Given the description of an element on the screen output the (x, y) to click on. 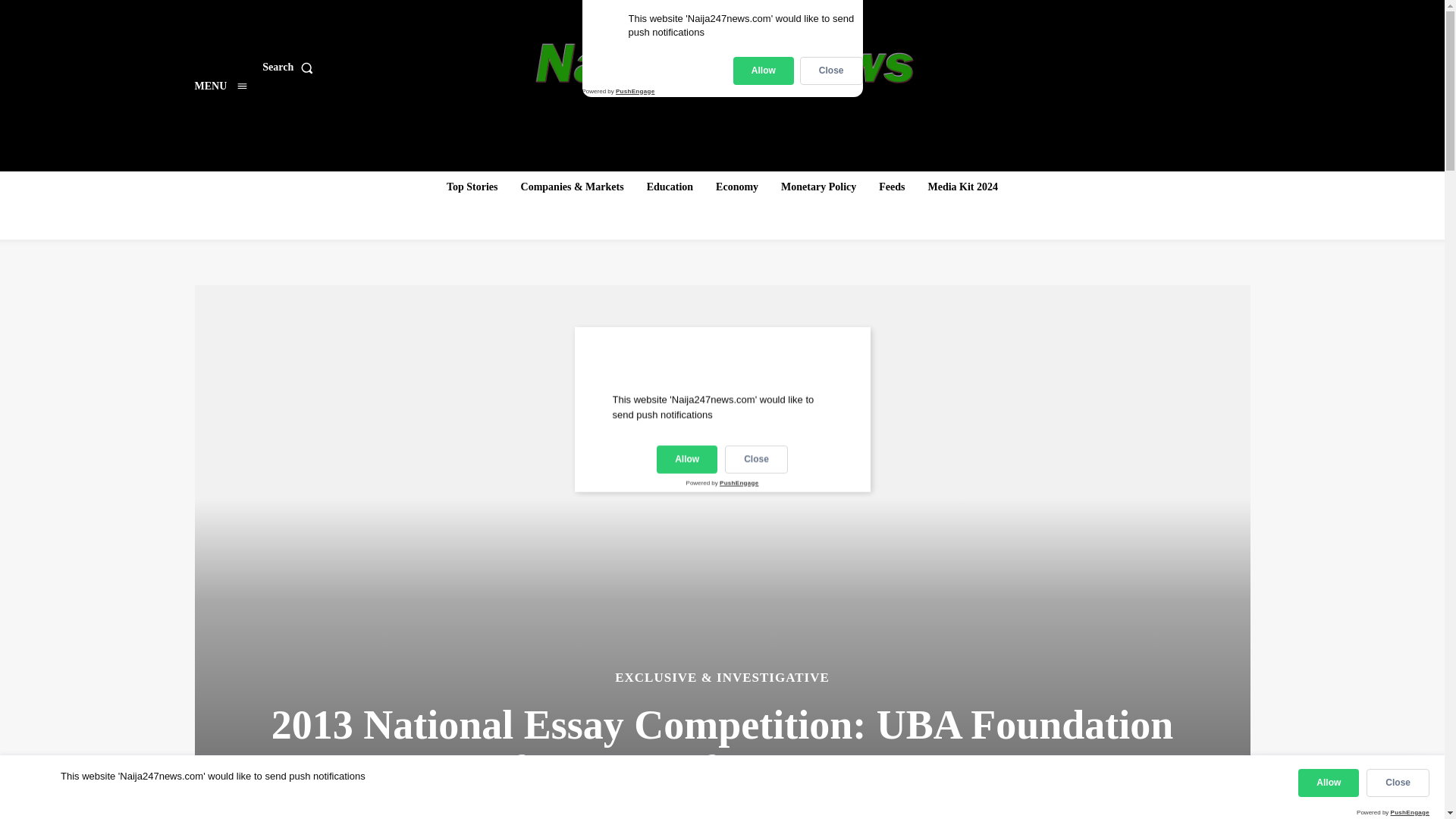
Education (669, 187)
MENU (220, 85)
Monetary Policy (818, 187)
Feeds (891, 187)
Search (290, 67)
Menu (220, 85)
Economy (736, 187)
Top Stories (472, 187)
Media Kit 2024 (963, 187)
